Given the description of an element on the screen output the (x, y) to click on. 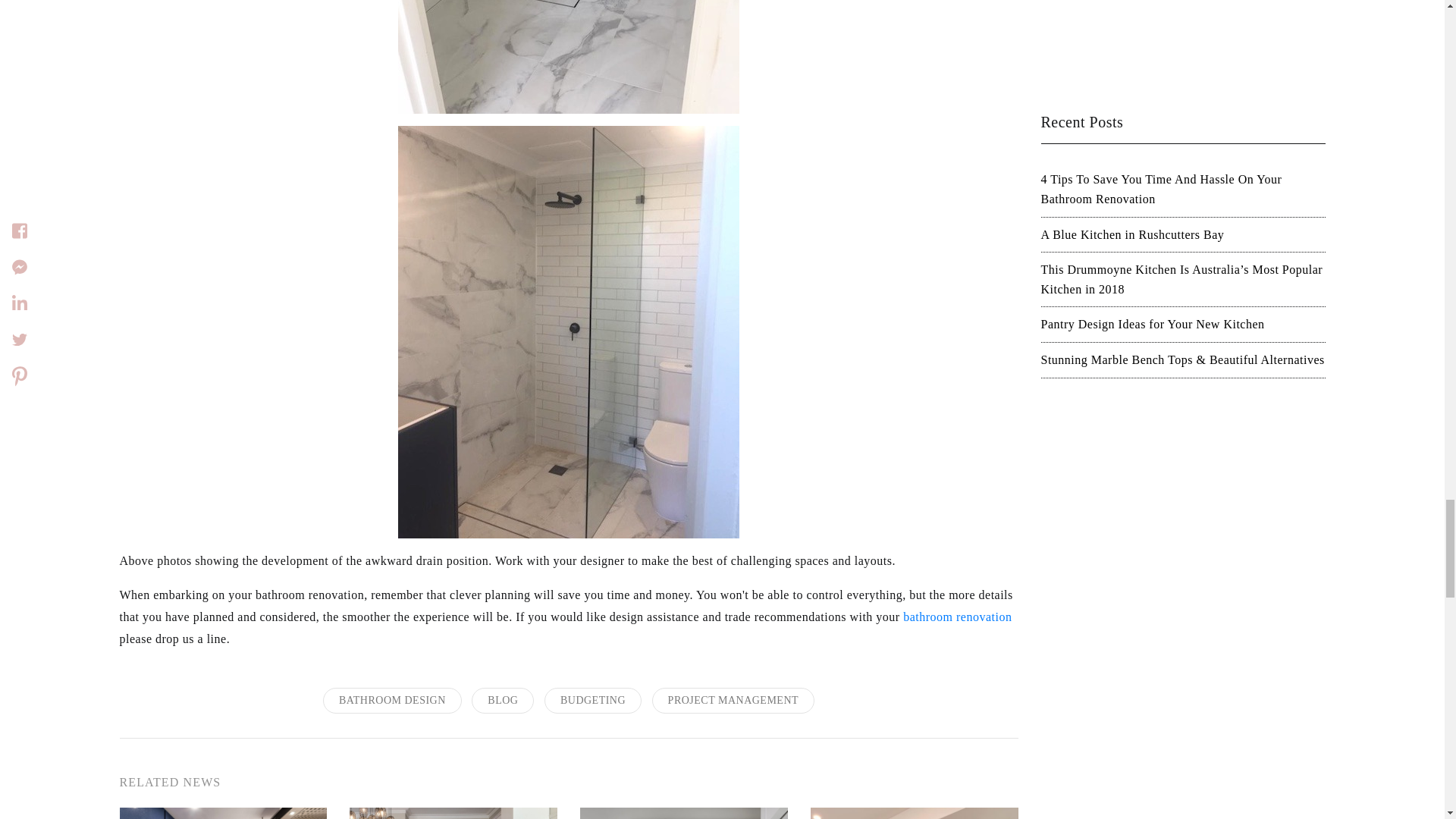
BATHROOM DESIGN (392, 699)
bathroom renovation (956, 616)
BLOG (502, 699)
PROJECT MANAGEMENT (732, 699)
BUDGETING (593, 699)
